Given the description of an element on the screen output the (x, y) to click on. 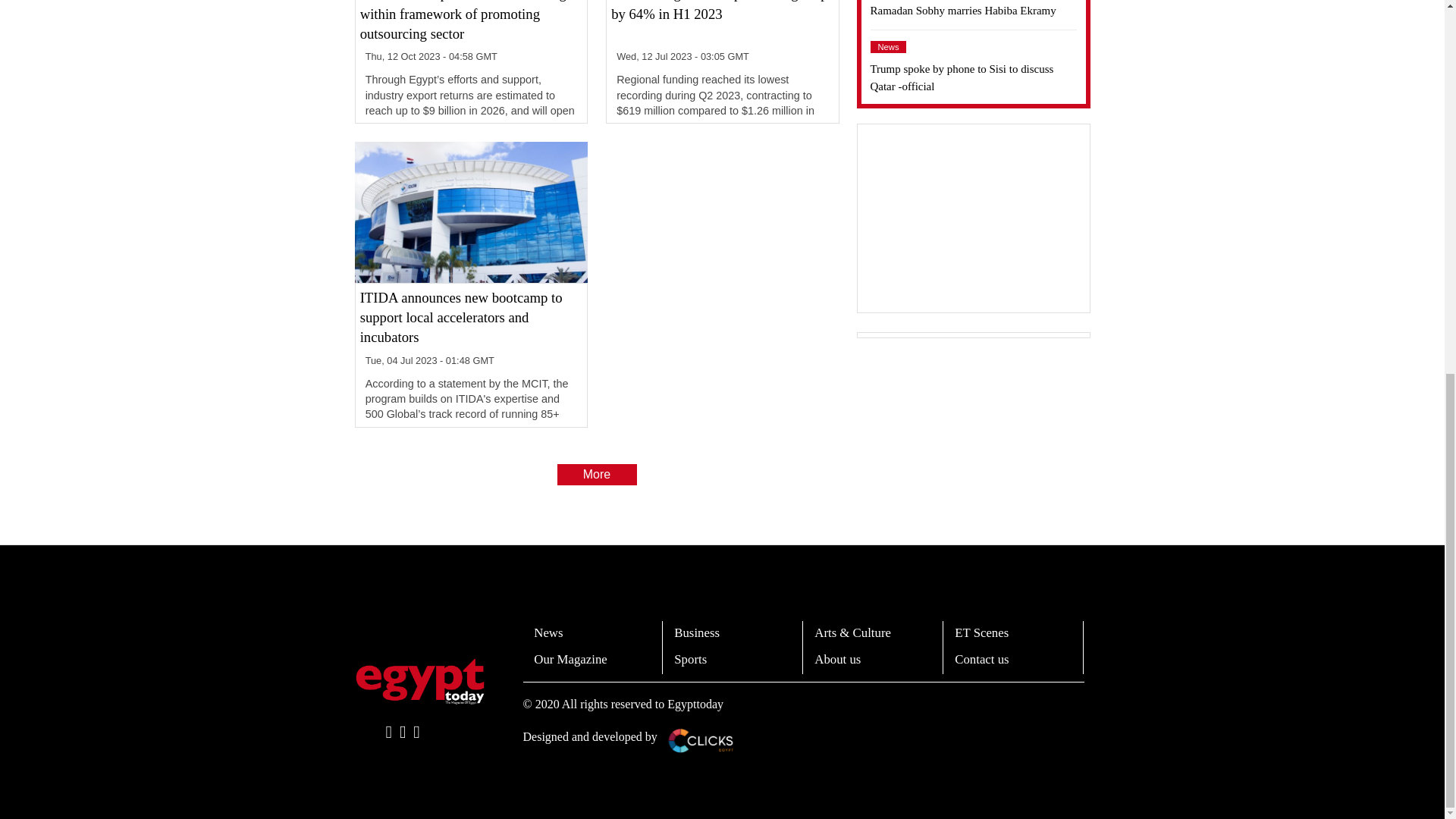
EgyptToday (419, 681)
